Given the description of an element on the screen output the (x, y) to click on. 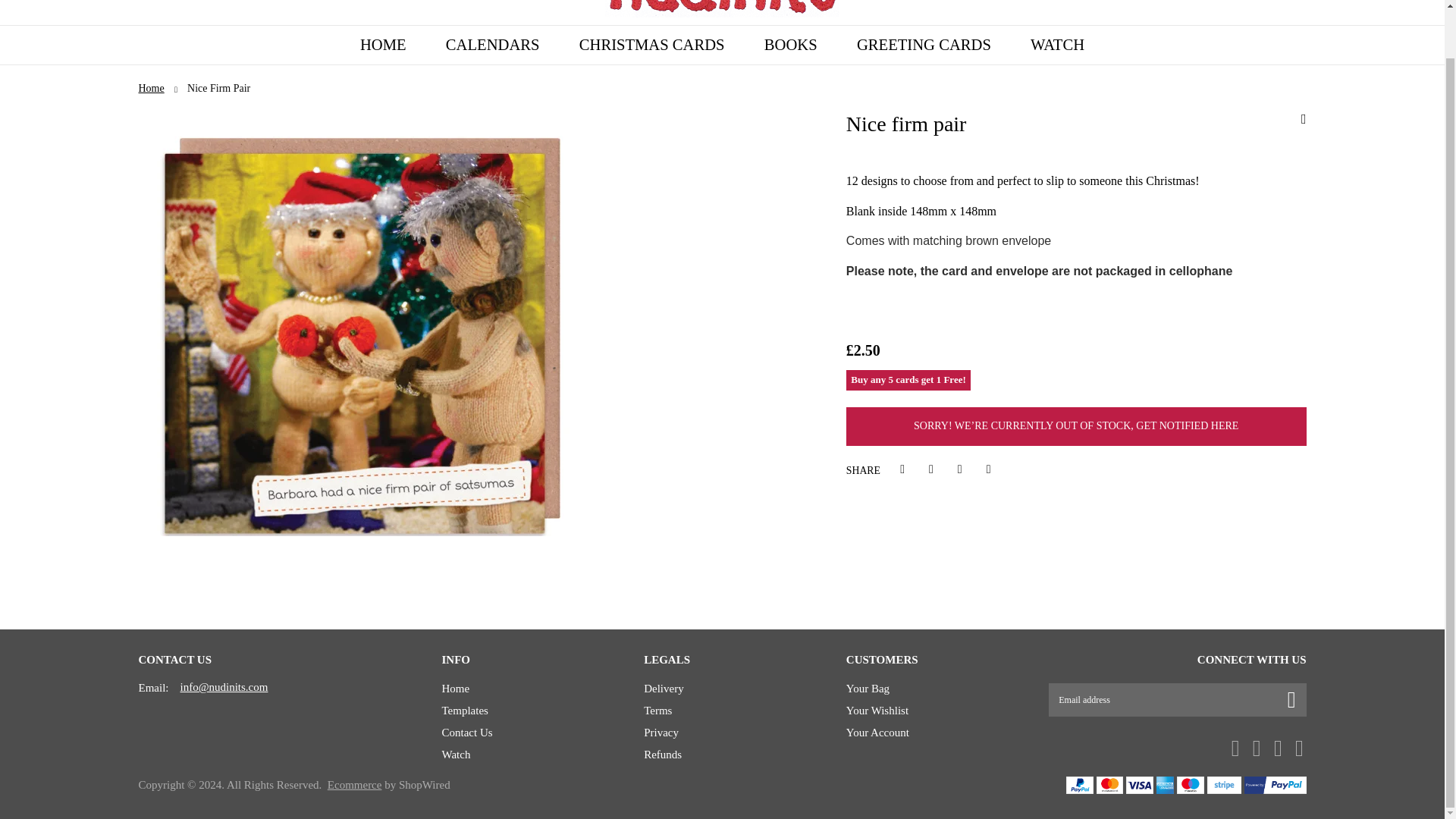
BOOKS (790, 44)
CHRISTMAS CARDS (651, 44)
WATCH (1056, 44)
HOME (383, 44)
CALENDARS (492, 44)
GREETING CARDS (923, 44)
